Given the description of an element on the screen output the (x, y) to click on. 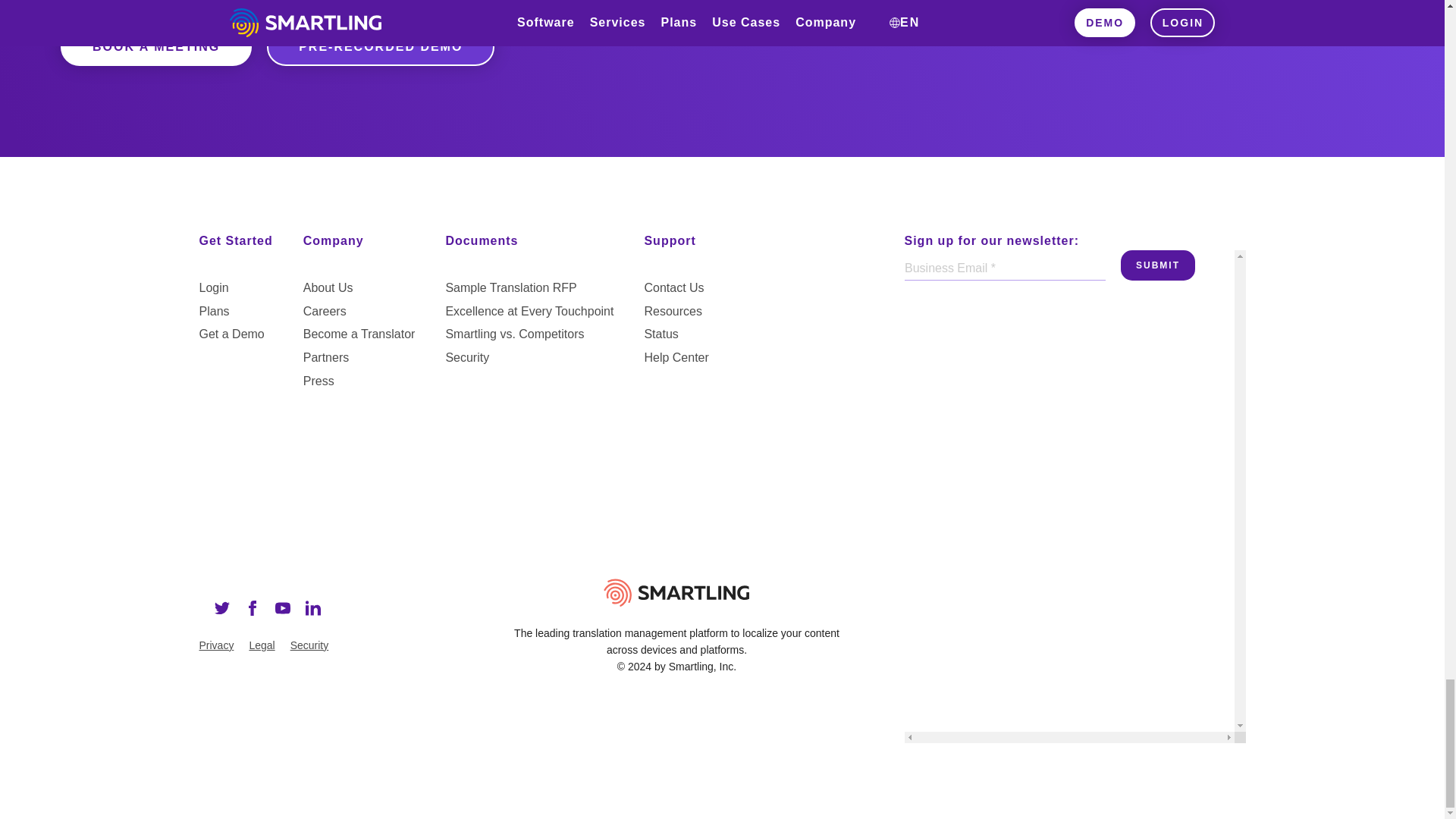
Pardot Form (1068, 306)
